Given the description of an element on the screen output the (x, y) to click on. 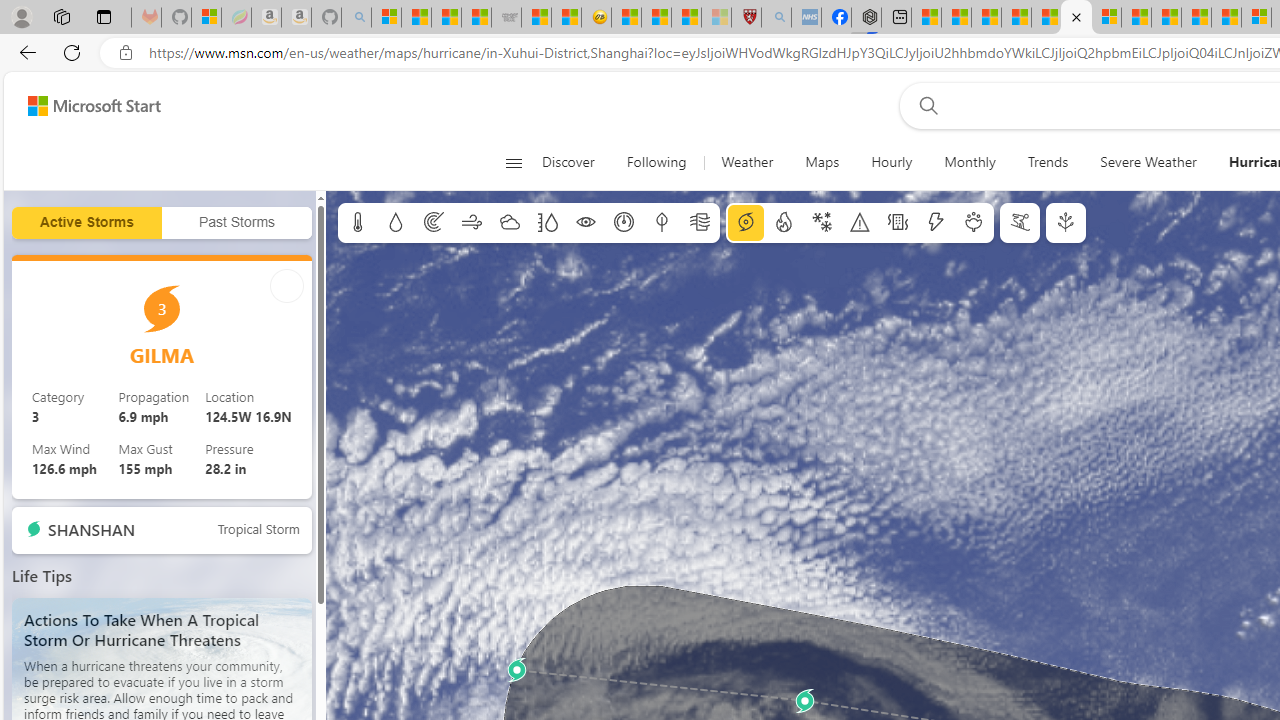
Severe Weather (1147, 162)
Earthquake (898, 223)
